Given the description of an element on the screen output the (x, y) to click on. 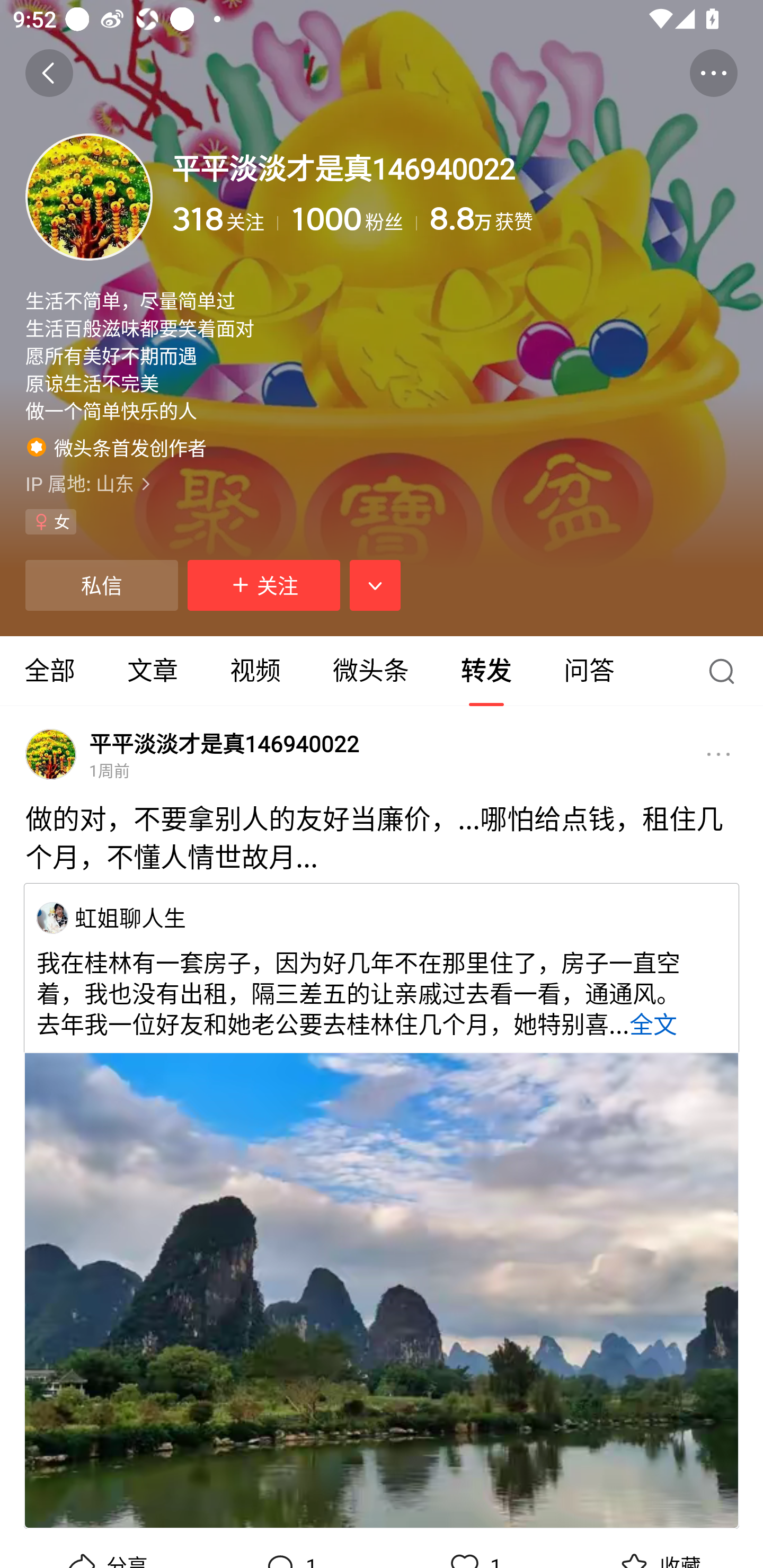
返回 (49, 72)
更多操作 (713, 72)
头像 (88, 196)
318 关注 (224, 219)
1000 粉丝 (353, 219)
8.8万 获赞 (583, 219)
微头条首发创作者 (116, 446)
IP 属地: 山东 (381, 483)
性别女 女 (50, 521)
私信 (101, 585)
     关注 (263, 585)
展开相关推荐，按钮 (374, 585)
全部 (50, 670)
文章 (152, 670)
视频 (254, 670)
微头条 (370, 670)
转发 (485, 670)
问答 (588, 670)
搜索 (726, 670)
平平淡淡才是真146940022 (224, 743)
平平淡淡才是真146940022头像 (50, 754)
更多 (718, 754)
虹姐聊人生 (52, 917)
虹姐聊人生 (130, 917)
